Given the description of an element on the screen output the (x, y) to click on. 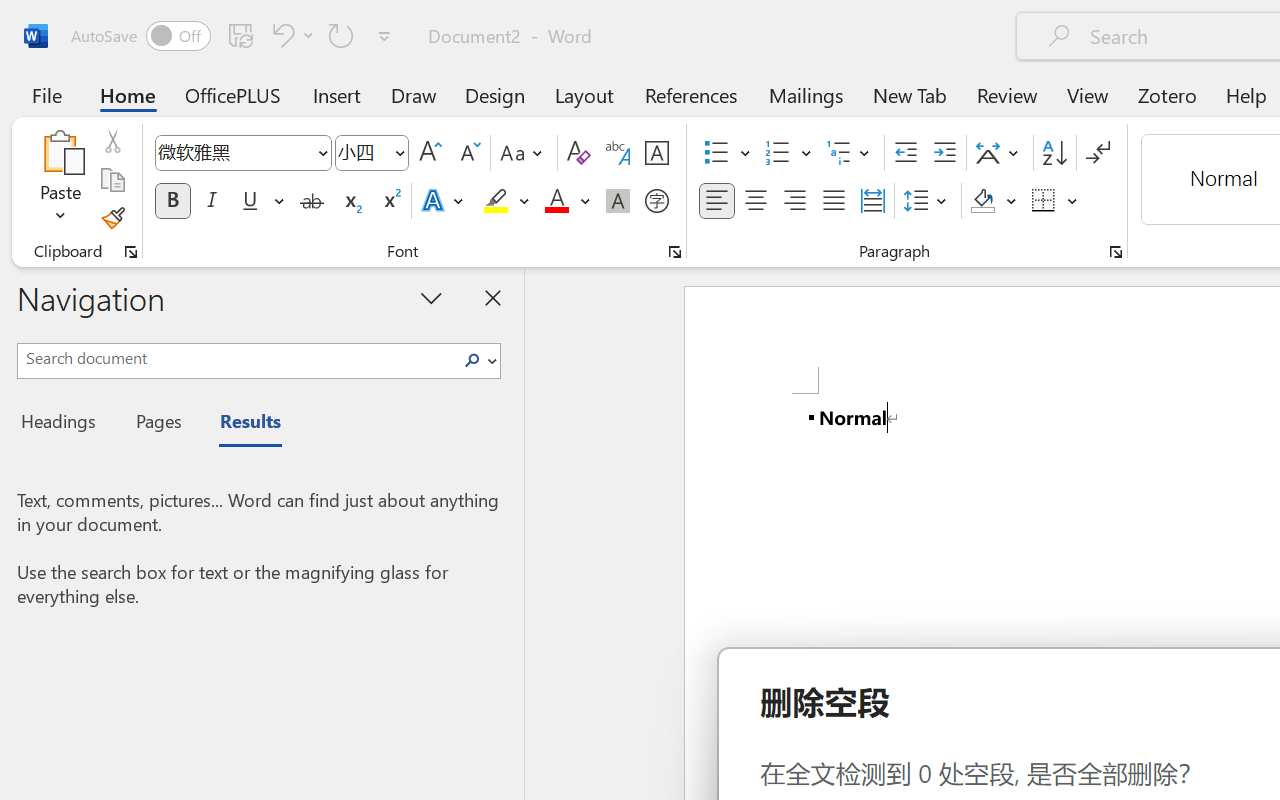
Underline (250, 201)
Character Shading (618, 201)
Class: NetUIImage (471, 360)
Search (471, 360)
Shrink Font (468, 153)
OfficePLUS (233, 94)
Home (127, 94)
Distributed (872, 201)
Borders (1044, 201)
Insert (337, 94)
Font (242, 153)
Office Clipboard... (131, 252)
Text Highlight Color Yellow (495, 201)
Repeat Doc Close (341, 35)
Results (240, 424)
